Given the description of an element on the screen output the (x, y) to click on. 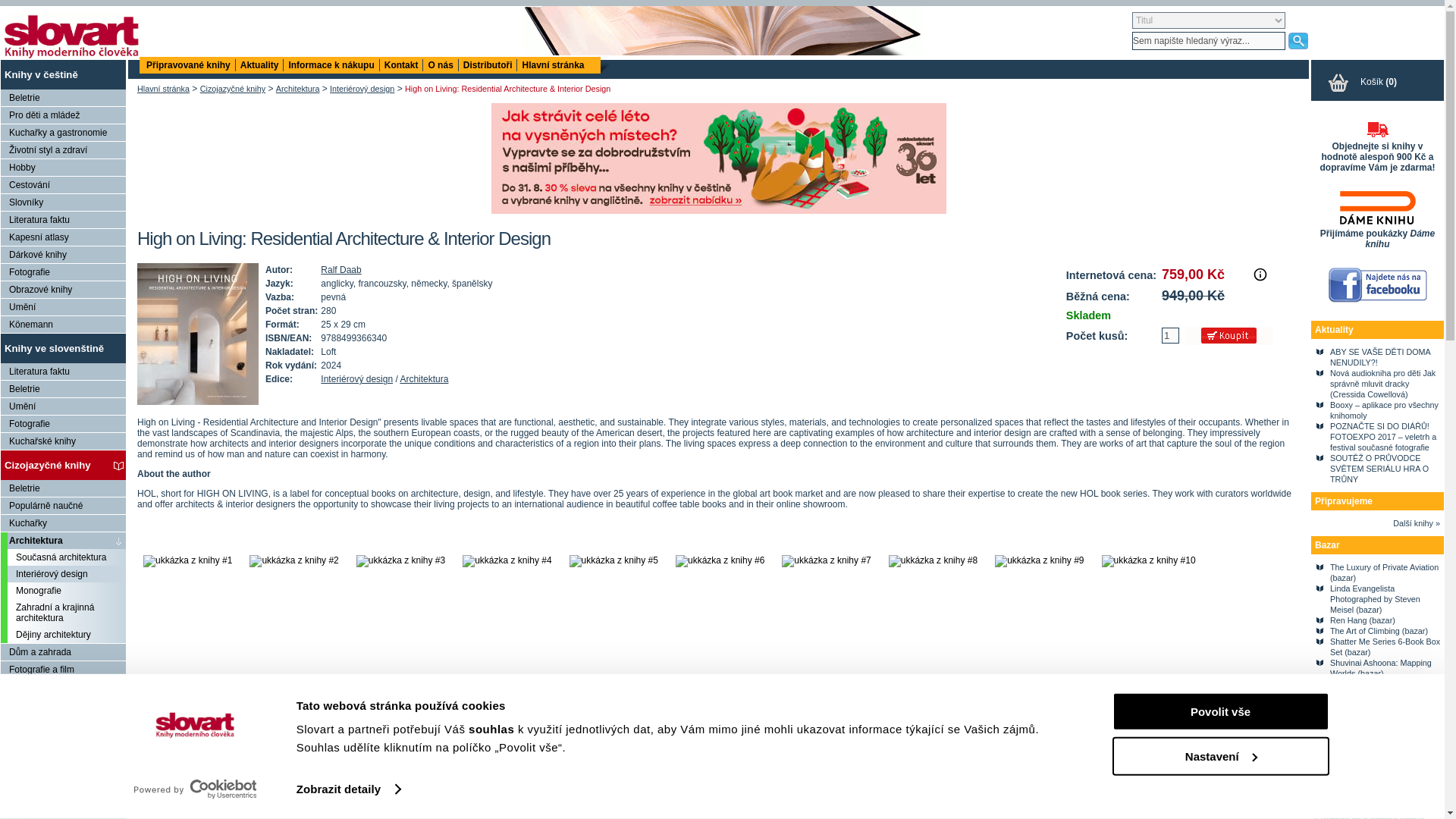
Slovart (71, 35)
1 (1170, 335)
souhlas  (493, 728)
Zobrazit detaily (348, 789)
